Given the description of an element on the screen output the (x, y) to click on. 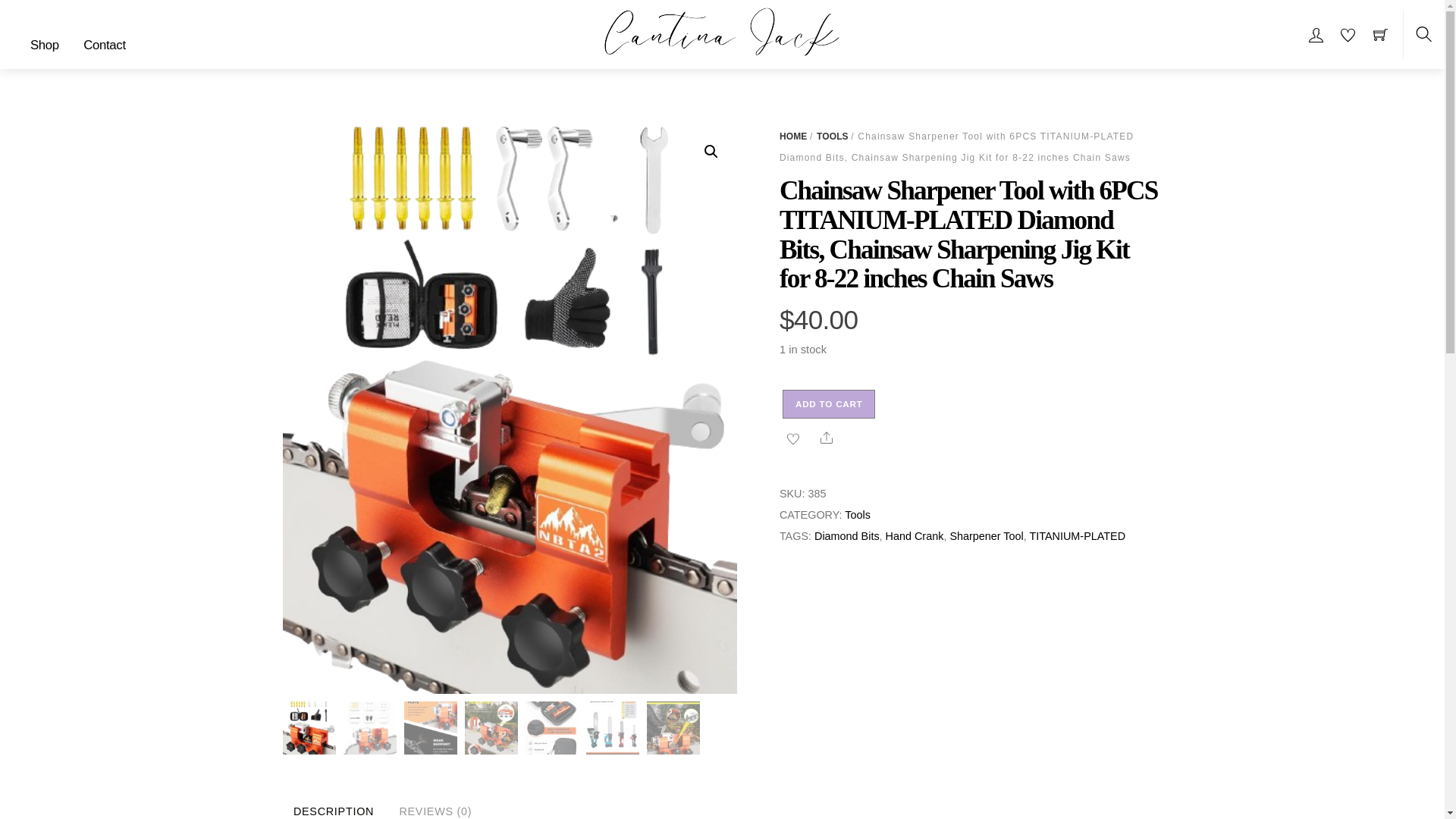
Tools (857, 514)
HOME (792, 136)
ADD TO CART (829, 403)
TOOLS (832, 136)
Diamond Bits (846, 535)
Hand Crank (914, 535)
Shop (44, 45)
Cantina Jack (723, 32)
Contact (103, 45)
DESCRIPTION (333, 805)
TITANIUM-PLATED (1077, 535)
Sharpener Tool (986, 535)
